Given the description of an element on the screen output the (x, y) to click on. 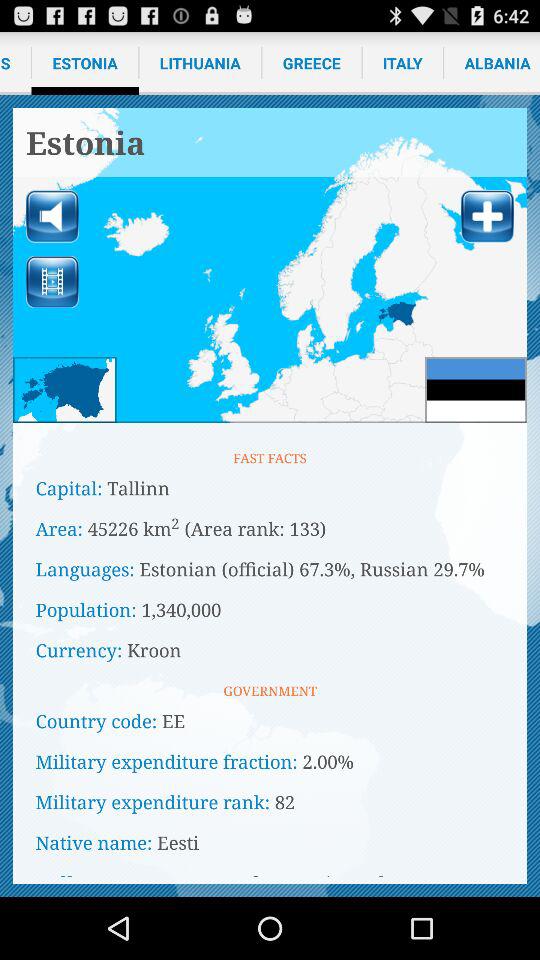
flag icon (475, 389)
